Given the description of an element on the screen output the (x, y) to click on. 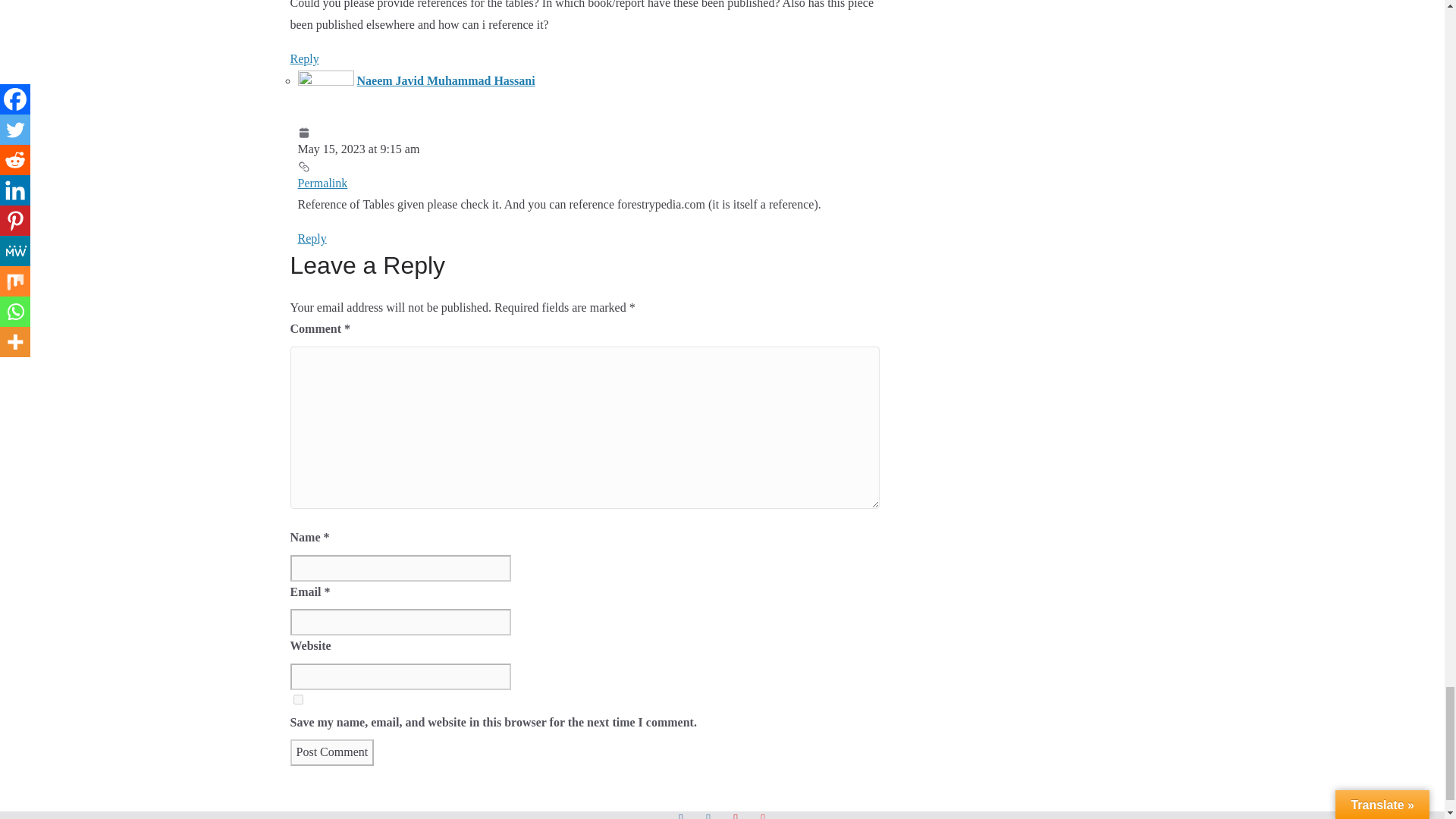
Post Comment (331, 752)
yes (297, 699)
